Given the description of an element on the screen output the (x, y) to click on. 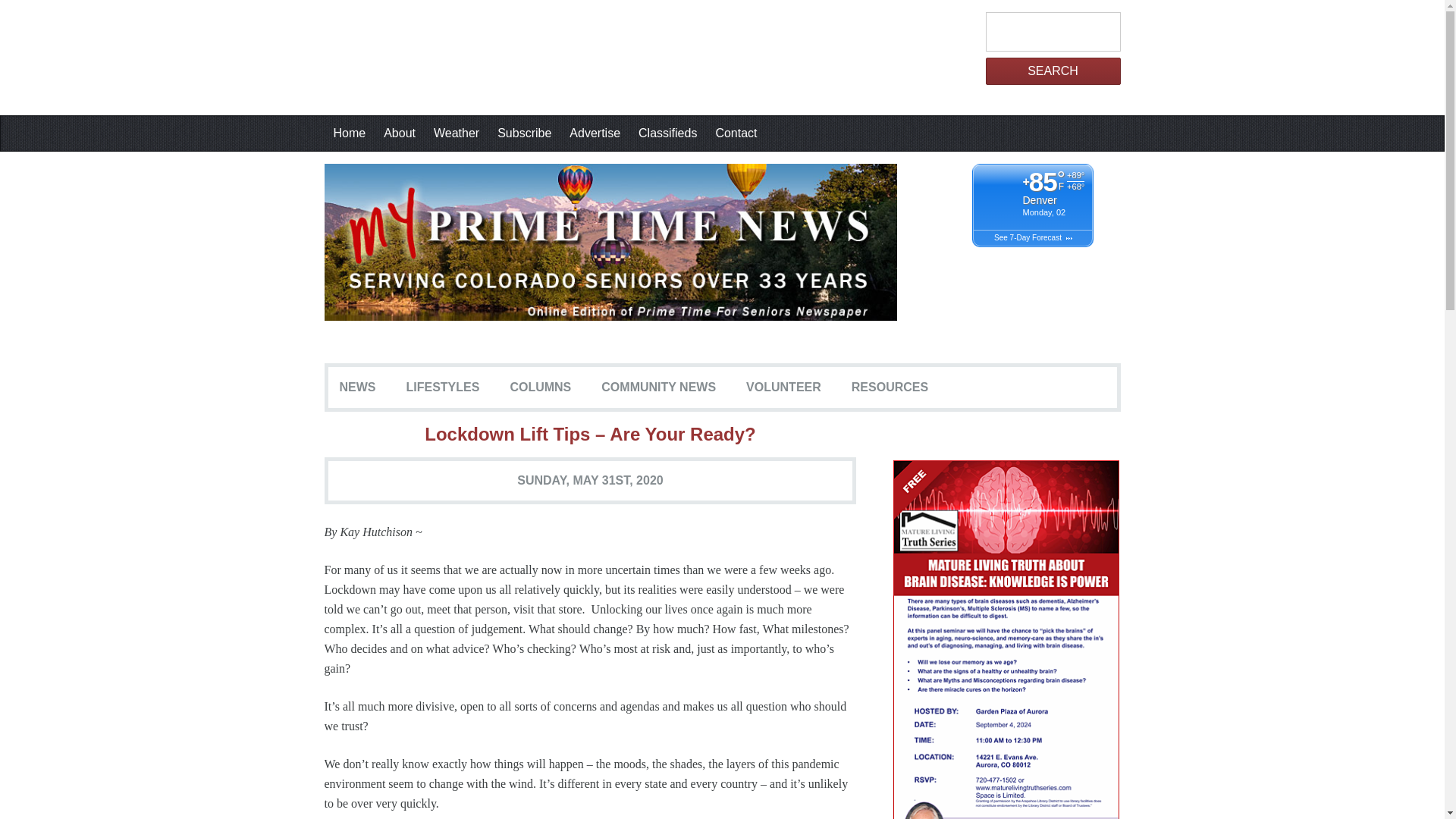
LIFESTYLES (443, 387)
Home (349, 133)
About (399, 133)
Advertise (594, 133)
Weather (456, 133)
NEWS (357, 387)
Contact (735, 133)
Search (1053, 71)
Search (1053, 71)
COLUMNS (540, 387)
